Given the description of an element on the screen output the (x, y) to click on. 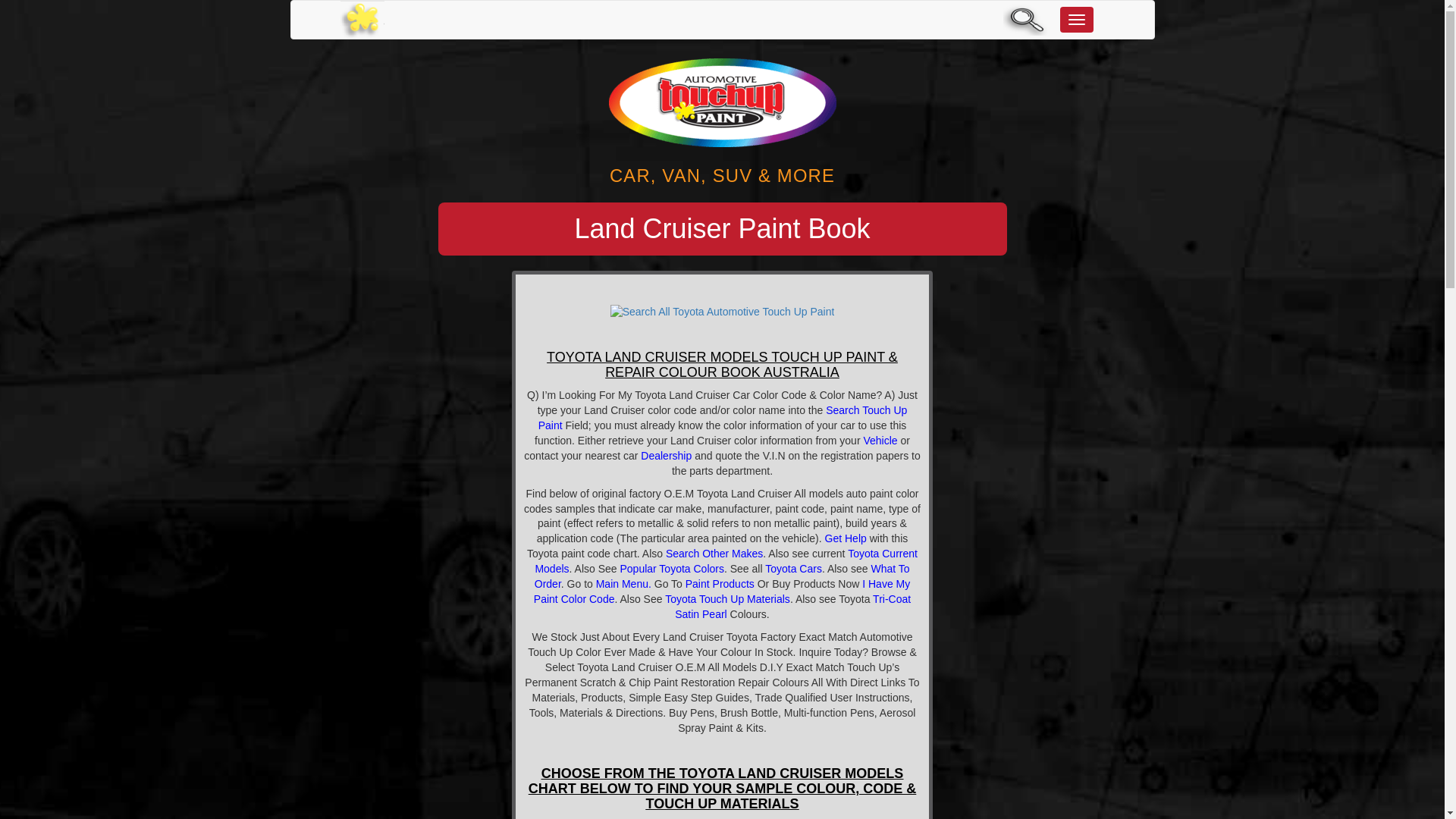
Toyota Cars (793, 568)
Choose Your Color From Toyota All Model Car Chart (793, 568)
Home Car Touch Up Paint Australia (361, 19)
Search All Toyota Automotive Touch Up Paint (722, 311)
Search Other Makes (713, 553)
Vehicle (879, 440)
Find your color code id label on your Toyota Camry car (879, 440)
Toyota Touch Up Materials (727, 598)
I Have My Paint Color Code (722, 591)
Get Help Finding Your Toyota Paint Color Code (845, 538)
See Toyota Camry Popular Touch-up Colors (671, 568)
See Everything In Store - Automotive Touch Up Paint (621, 583)
Advanced Search -Easily Find Everything In Store (1027, 19)
Get Help (845, 538)
